Given the description of an element on the screen output the (x, y) to click on. 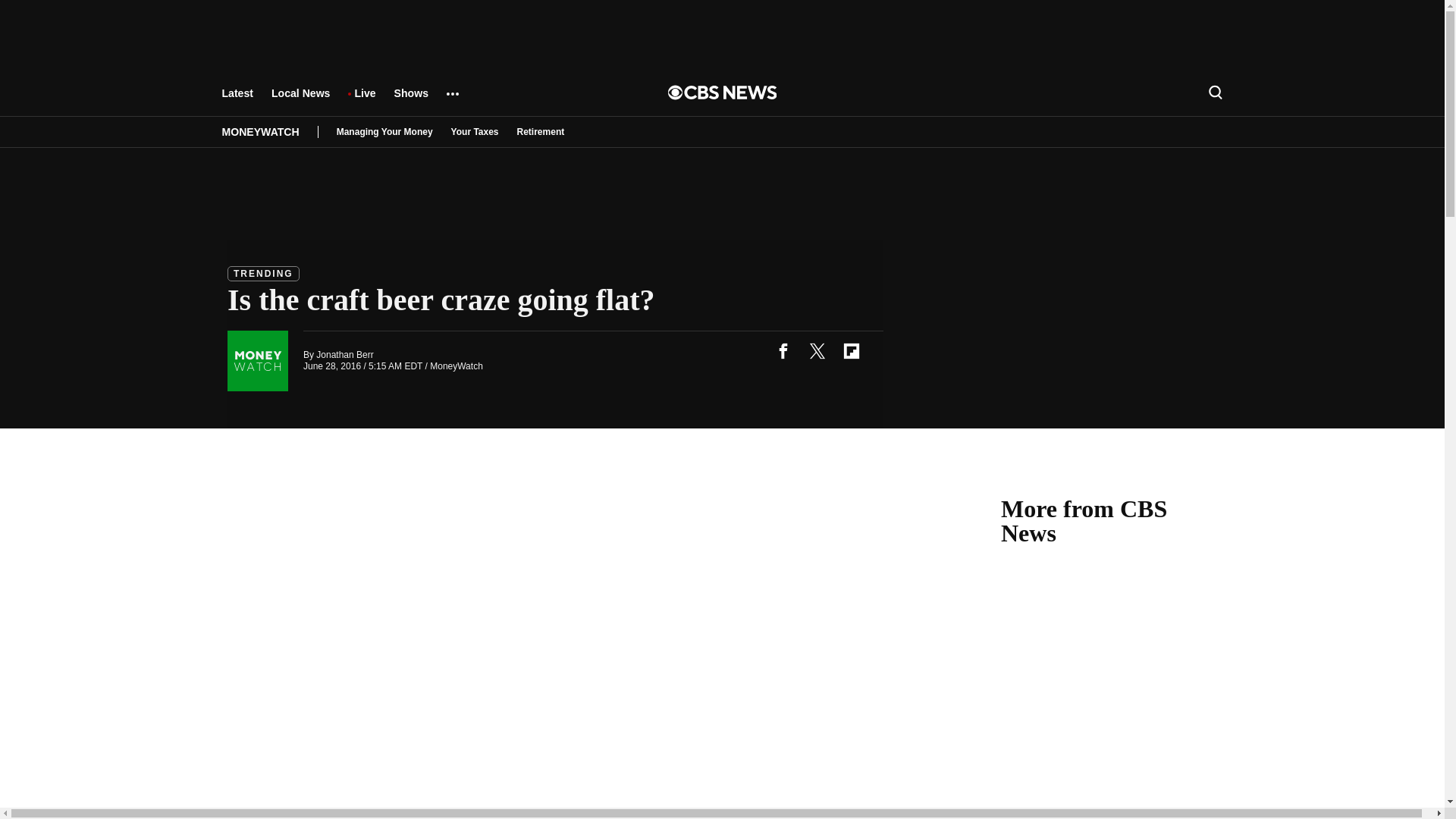
flipboard (850, 350)
Local News (300, 100)
twitter (816, 350)
Latest (236, 100)
facebook (782, 350)
